Given the description of an element on the screen output the (x, y) to click on. 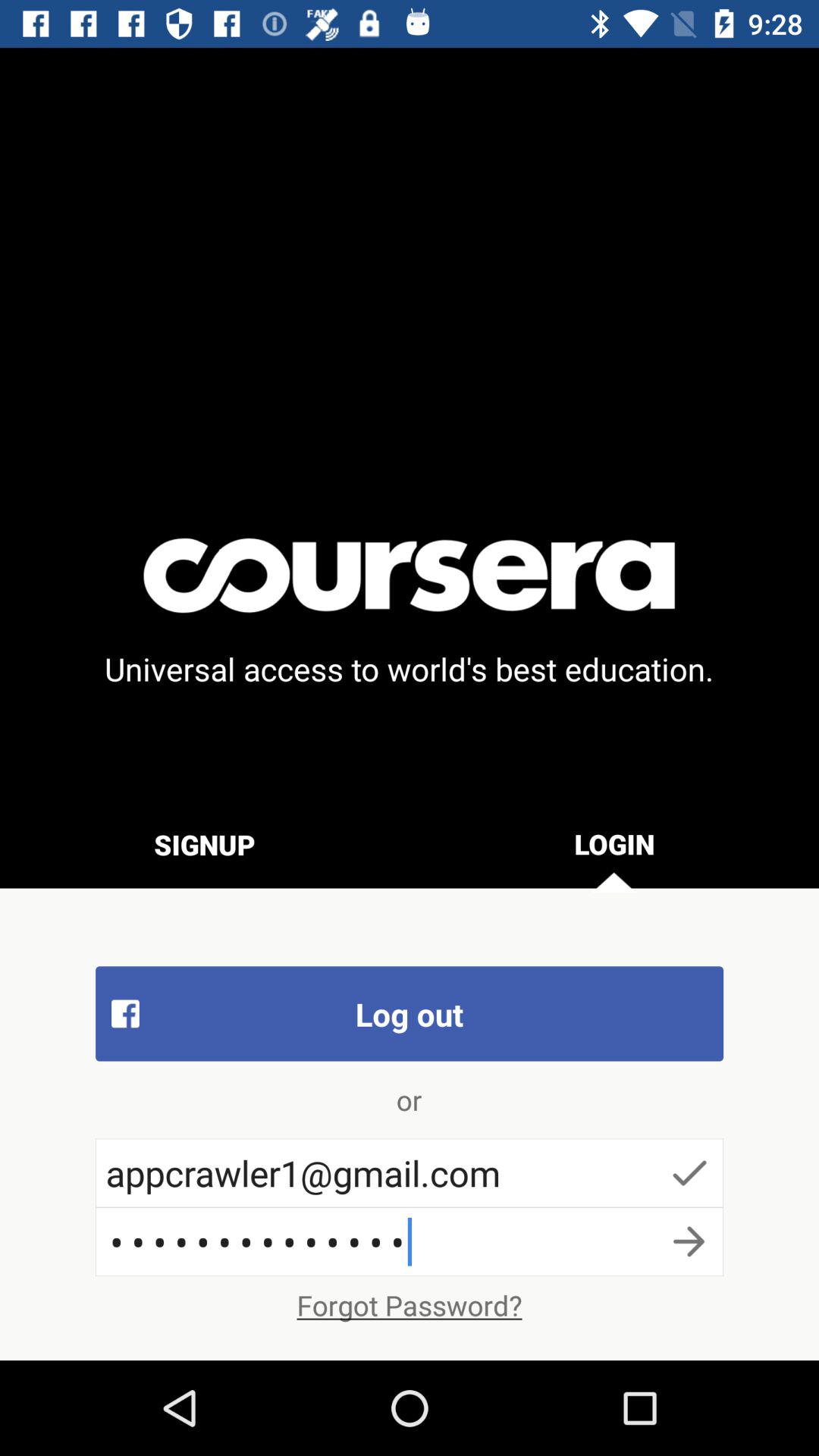
swipe until the appcrawler1@gmail.com item (409, 1172)
